Given the description of an element on the screen output the (x, y) to click on. 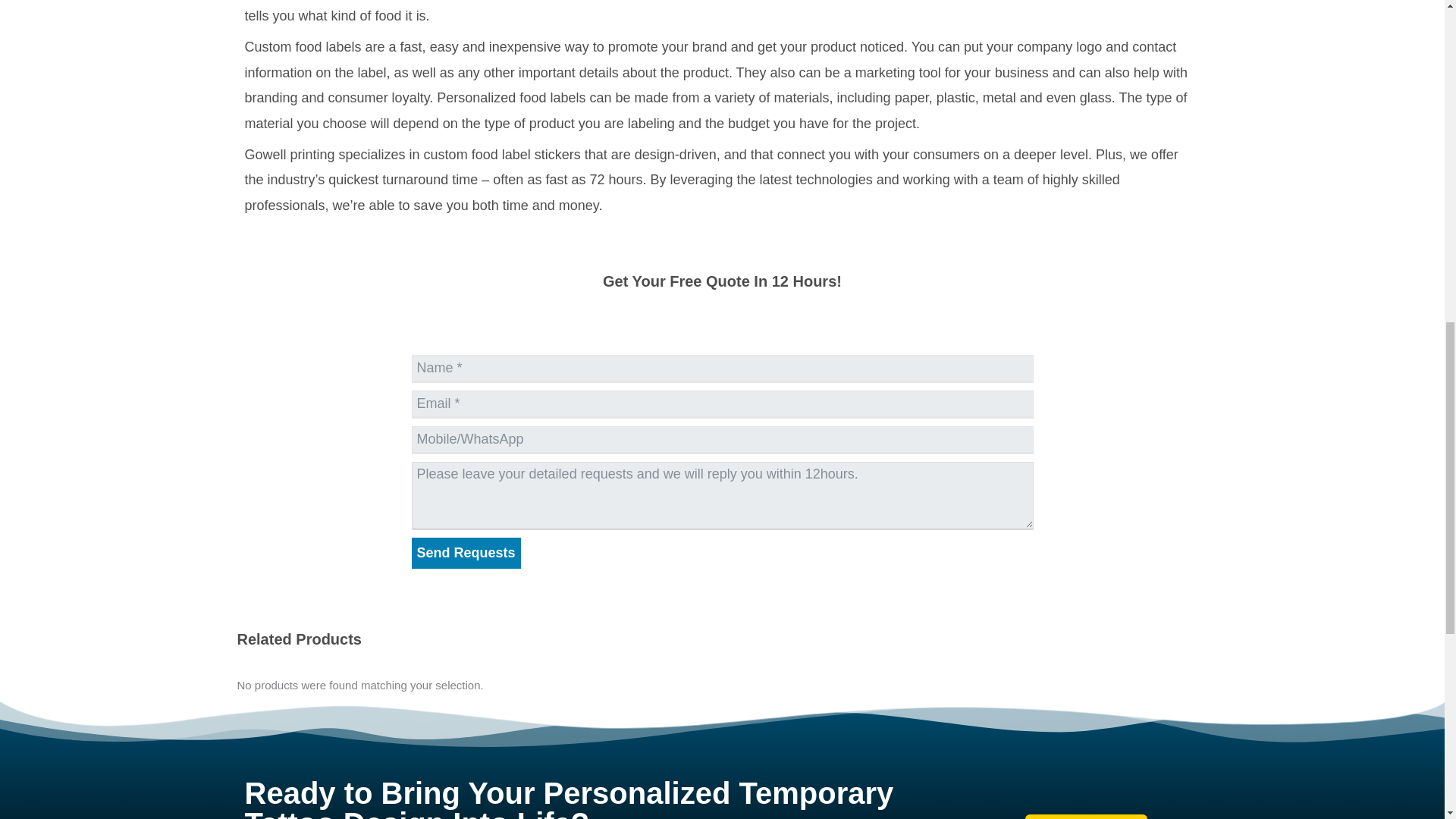
Send Requests (464, 552)
CONTACT US (1086, 816)
